Given the description of an element on the screen output the (x, y) to click on. 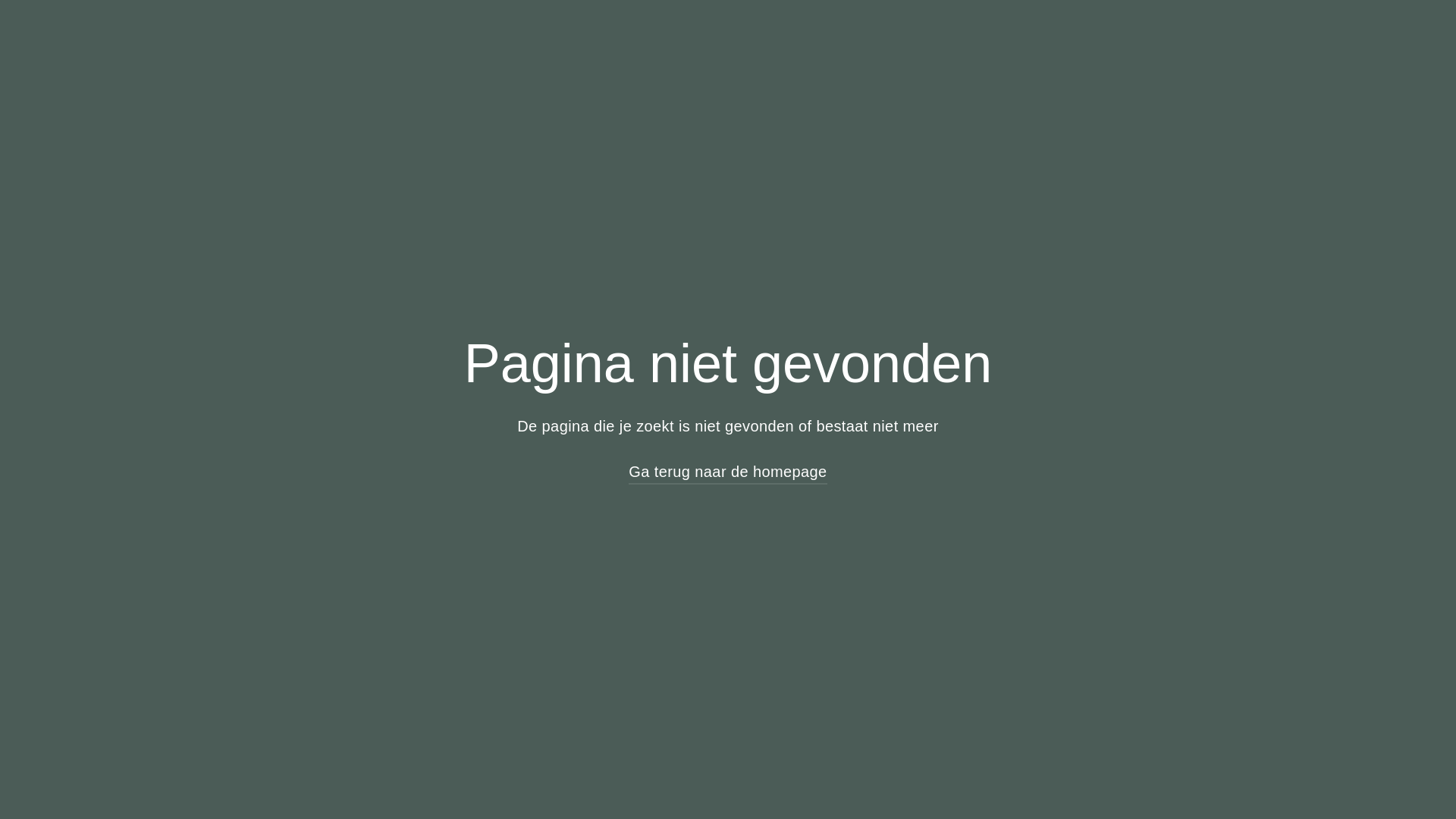
Ga terug naar de homepage Element type: text (727, 471)
